Given the description of an element on the screen output the (x, y) to click on. 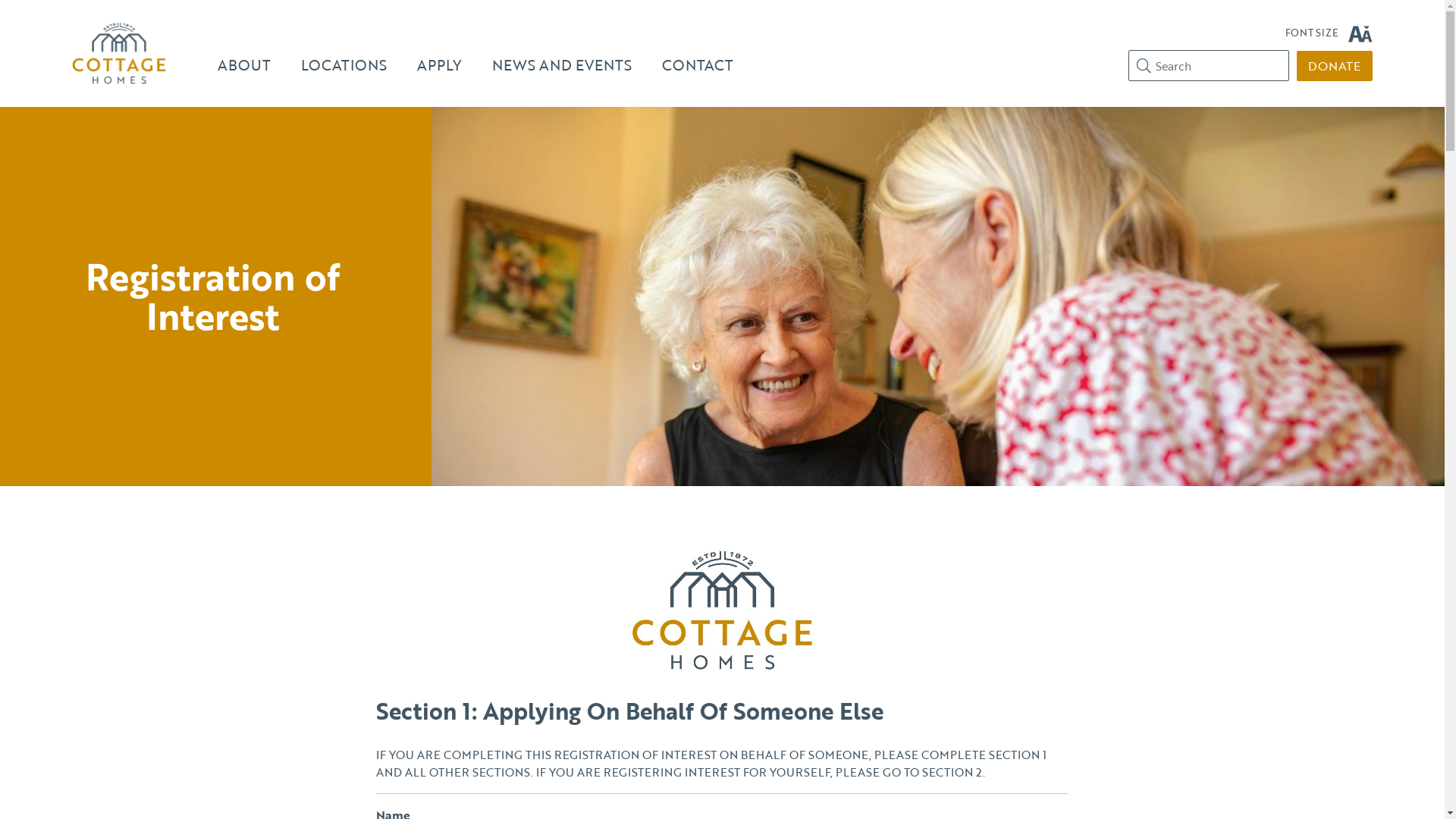
ABOUT Element type: text (243, 64)
DONATE Element type: text (1334, 65)
CONTACT Element type: text (697, 64)
jh110321__1053 copy Element type: hover (939, 296)
NEWS AND EVENTS Element type: text (561, 64)
APPLY Element type: text (438, 64)
LOCATIONS Element type: text (343, 64)
